Given the description of an element on the screen output the (x, y) to click on. 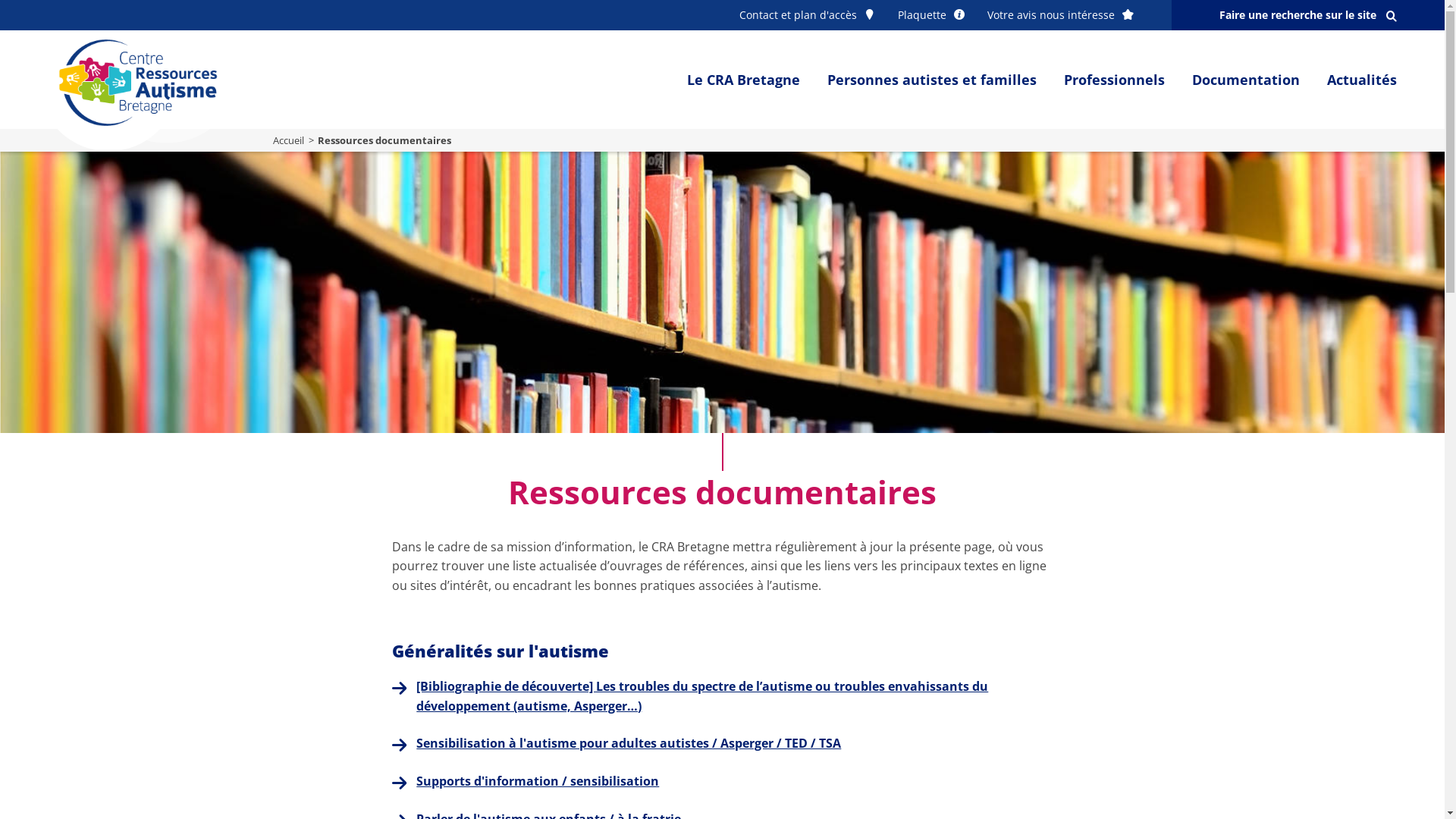
Rechercher Element type: text (52, 15)
Faire une recherche sur le site Element type: text (1307, 15)
Plaquette Element type: text (930, 14)
Accueil Element type: text (288, 140)
Supports d'information / sensibilisation Element type: text (537, 780)
